Given the description of an element on the screen output the (x, y) to click on. 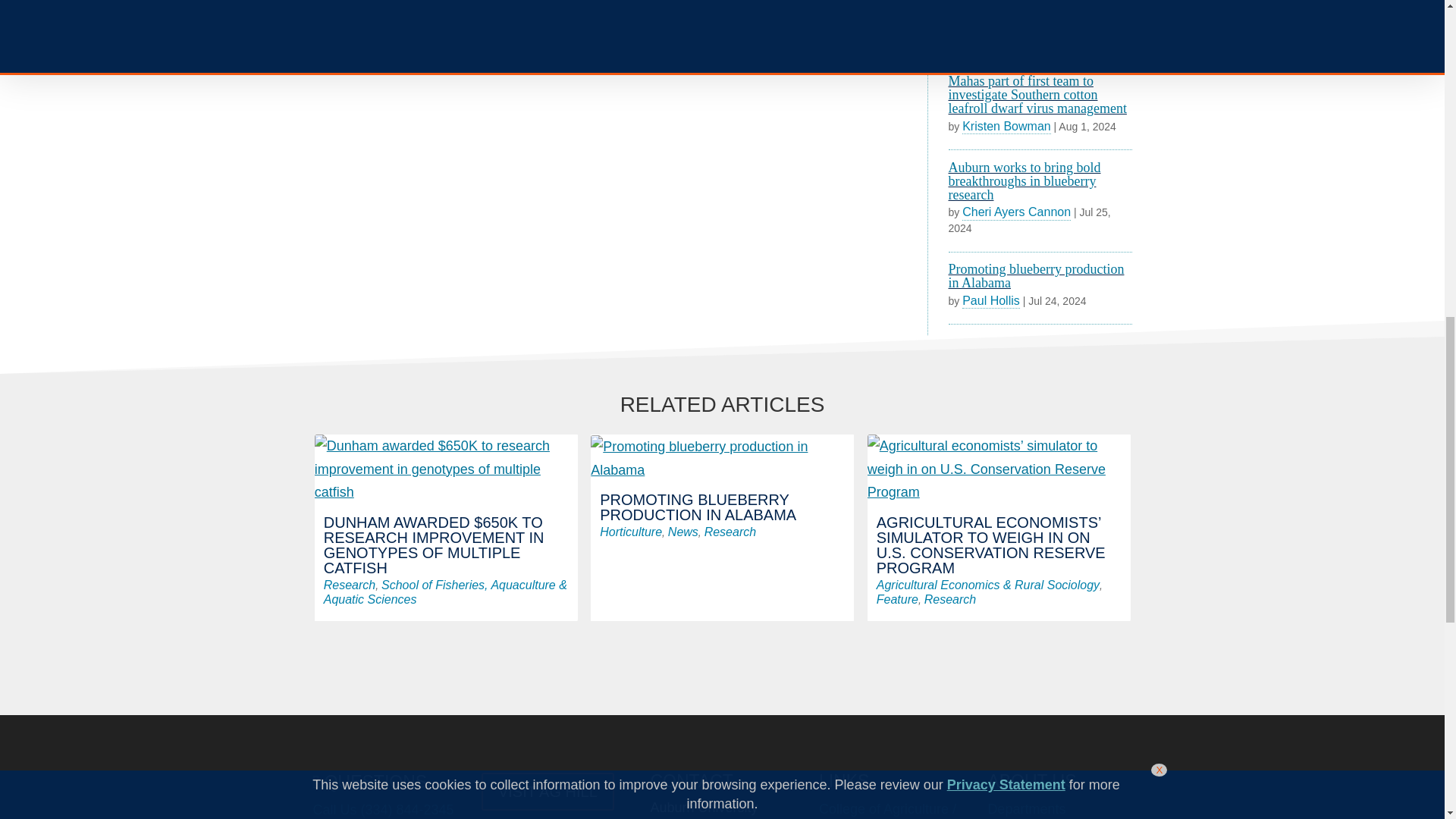
Posts by Paul Hollis (991, 300)
Posts by Kristen Bowman (1006, 126)
Posts by Cheri Ayers Cannon (1016, 212)
Posts by agwpadmin (993, 39)
